Given the description of an element on the screen output the (x, y) to click on. 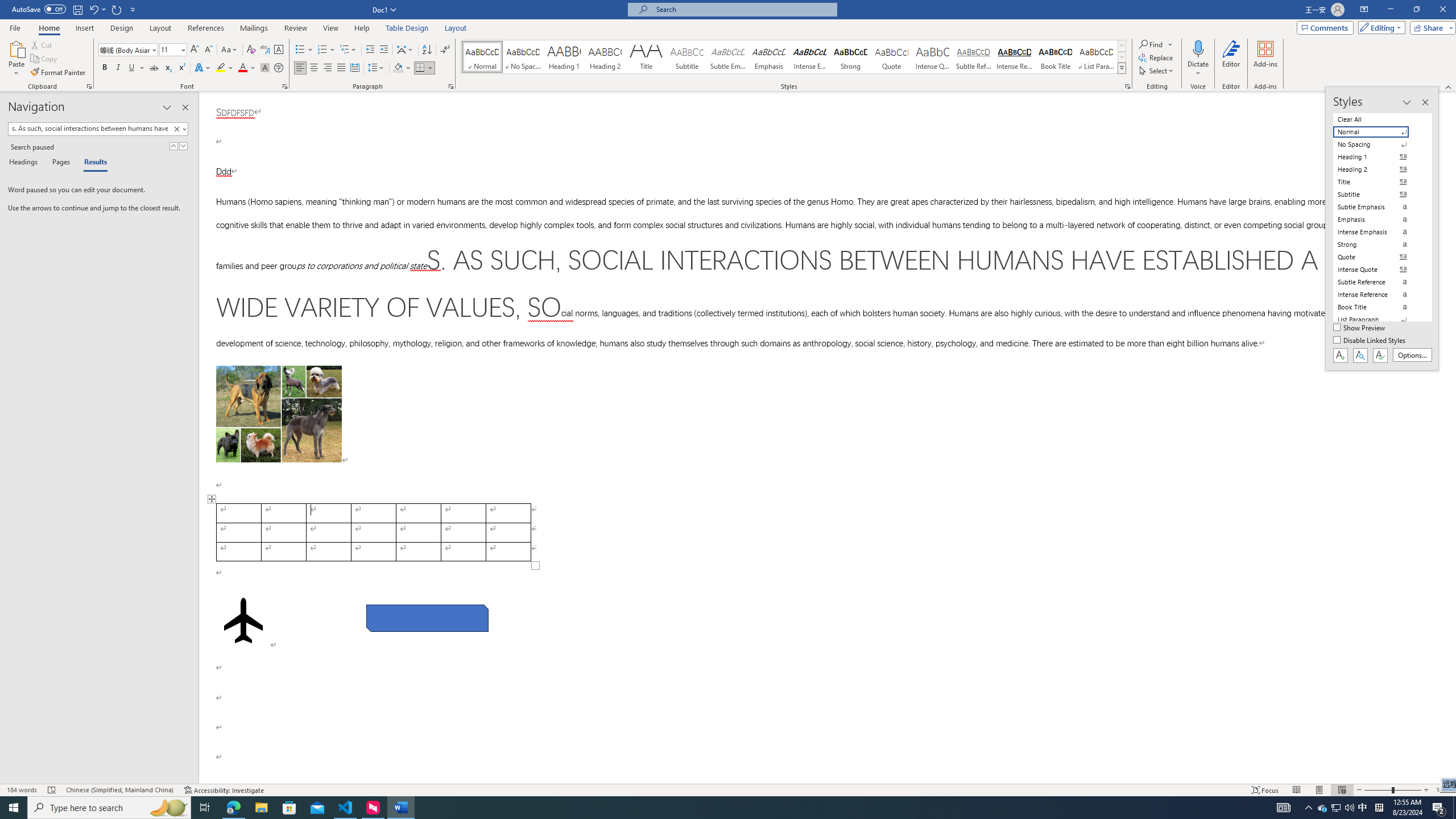
Results (91, 162)
Title (646, 56)
Language Chinese (Simplified, Mainland China) (119, 790)
List Paragraph (1377, 319)
Show/Hide Editing Marks (444, 49)
Subtle Reference (973, 56)
